Given the description of an element on the screen output the (x, y) to click on. 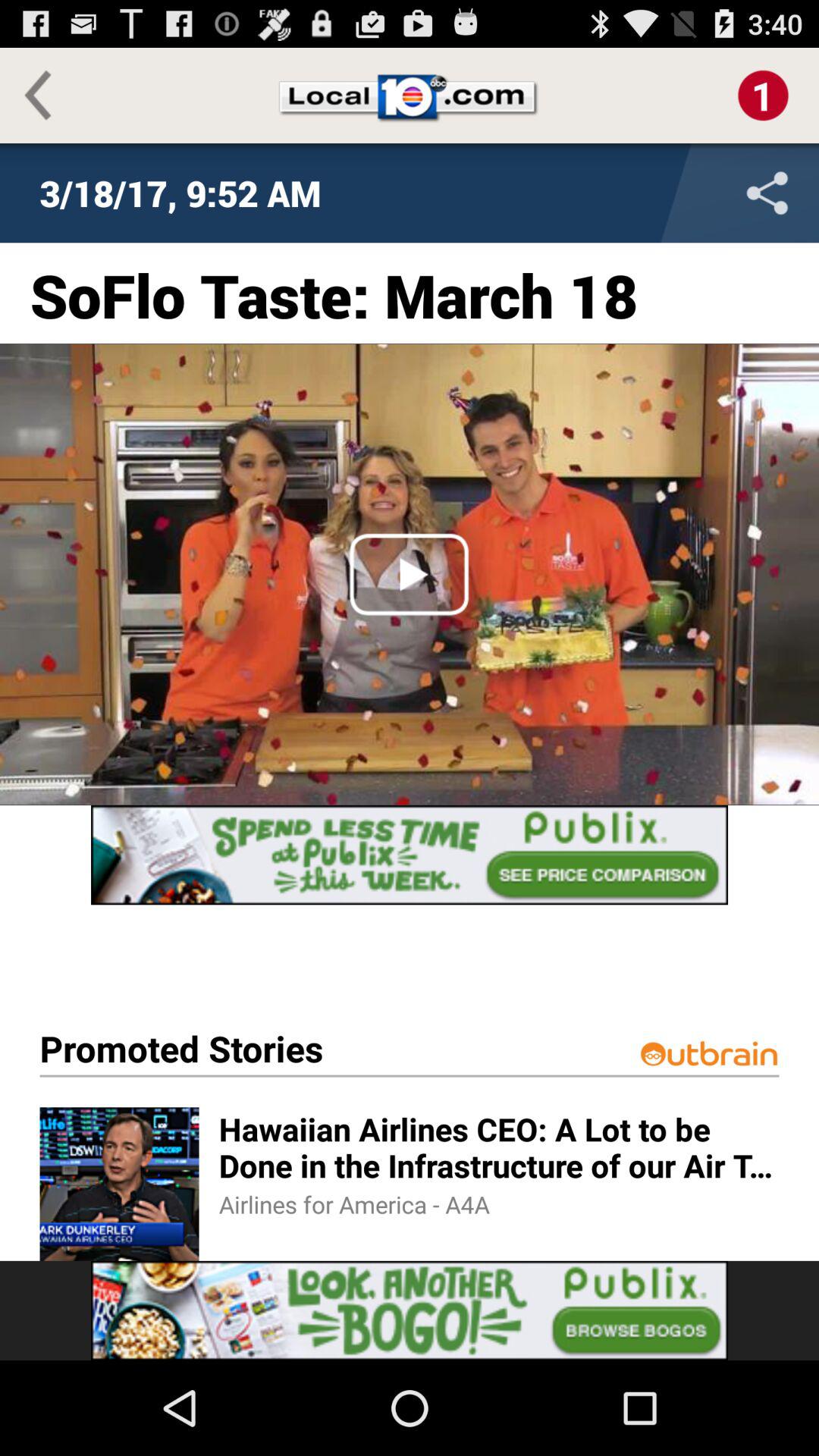
one unread notification (762, 95)
